Given the description of an element on the screen output the (x, y) to click on. 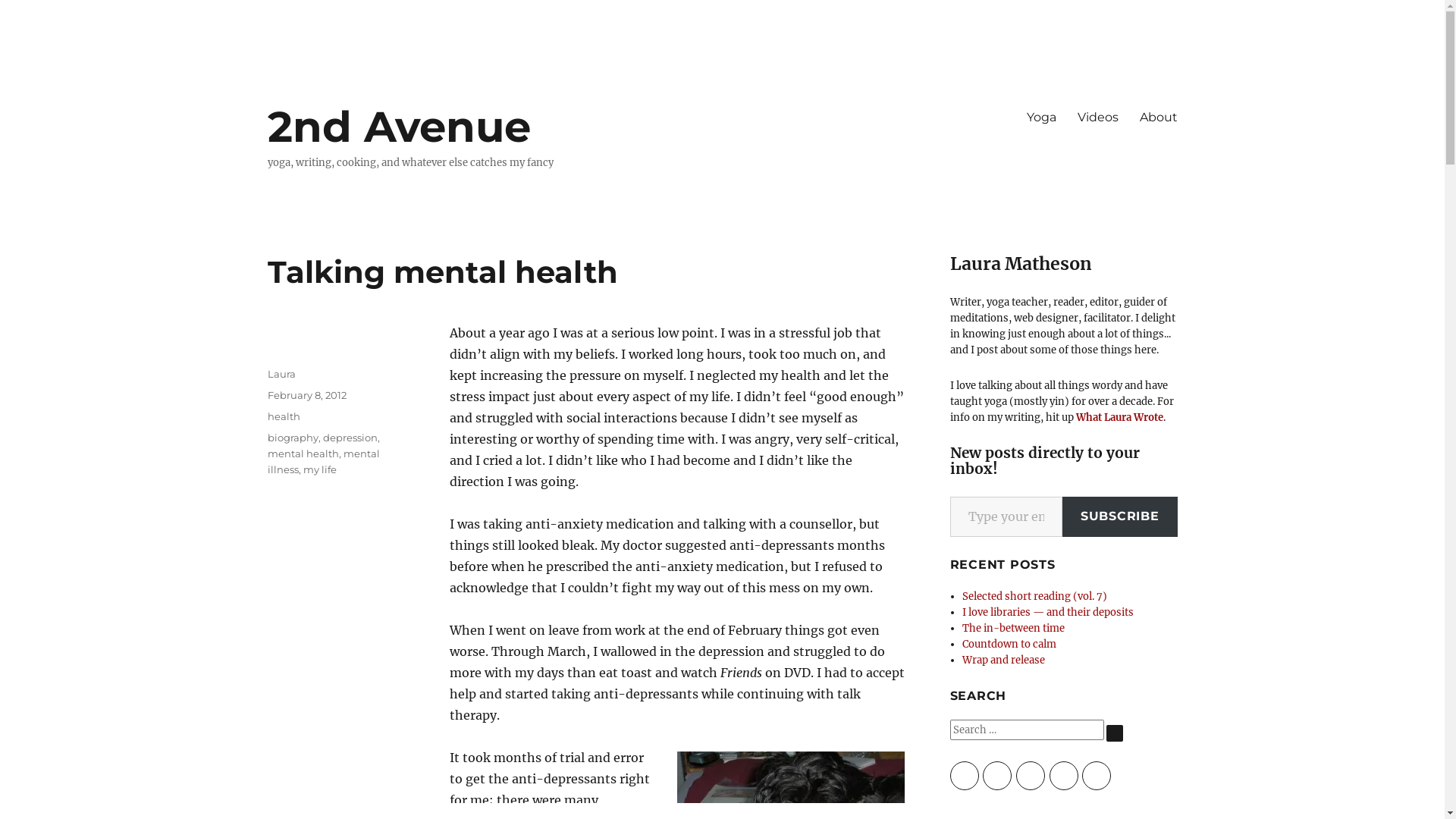
YouTube Element type: text (996, 775)
biography Element type: text (291, 437)
The in-between time Element type: text (1013, 627)
mental illness Element type: text (322, 461)
About Element type: text (1157, 116)
What Laura Wrote Element type: text (1118, 417)
Instagram Element type: text (1063, 775)
SEARCH Element type: text (1113, 732)
LinkedIn Element type: text (1030, 775)
2nd Avenue Element type: text (398, 126)
Laura Element type: text (280, 373)
Selected short reading (vol. 7) Element type: text (1034, 595)
Wrap and release Element type: text (1003, 659)
Twitter Element type: text (1096, 775)
Countdown to calm Element type: text (1009, 643)
February 8, 2012 Element type: text (305, 395)
mental health Element type: text (302, 453)
my life Element type: text (319, 469)
Videos Element type: text (1097, 116)
Yoga Element type: text (1041, 116)
depression Element type: text (350, 437)
SUBSCRIBE Element type: text (1119, 516)
health Element type: text (282, 416)
